Given the description of an element on the screen output the (x, y) to click on. 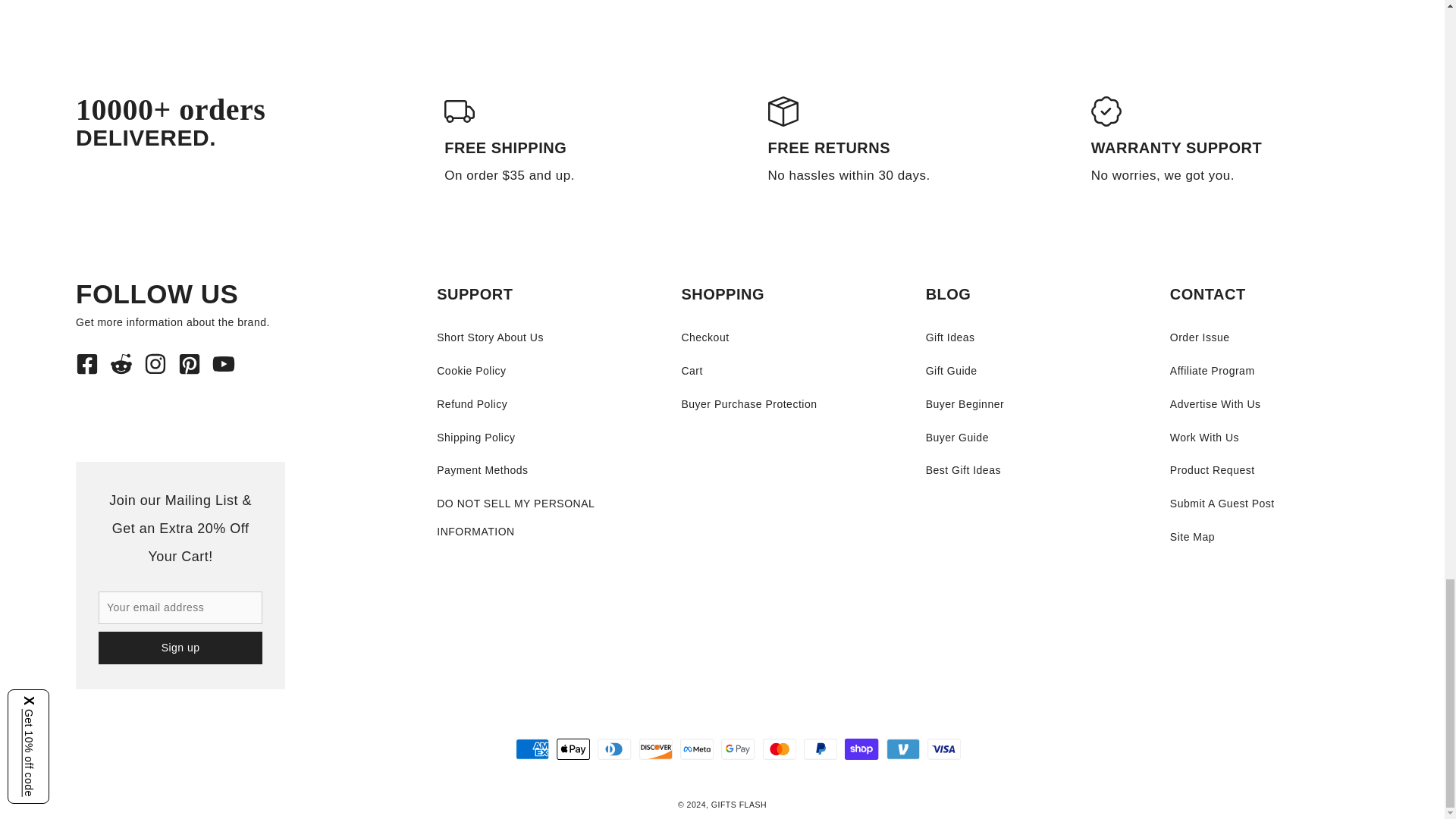
Meta Pay (696, 749)
PayPal (820, 749)
Visa (943, 749)
Diners Club (613, 749)
Discover (655, 749)
Mastercard (779, 749)
Google Pay (737, 749)
Venmo (903, 749)
American Express (531, 749)
Shop Pay (860, 749)
